Given the description of an element on the screen output the (x, y) to click on. 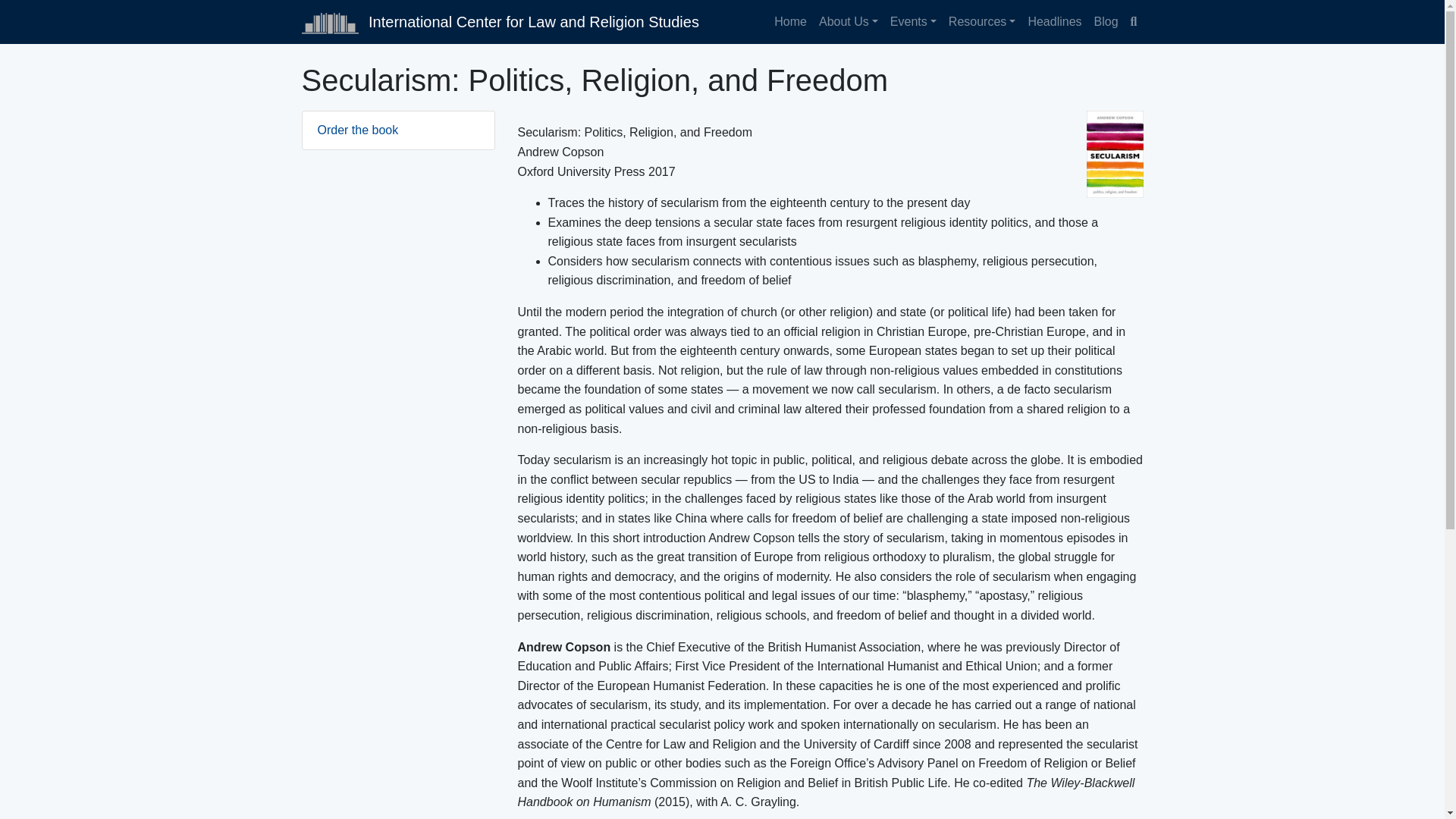
Events (912, 21)
Headlines (1054, 21)
Home (790, 21)
International Center for Law and Religion Studies (499, 21)
Home (790, 21)
Resources (982, 21)
Blog (1105, 21)
Events (912, 21)
About Us (847, 21)
Resources (982, 21)
About Us (847, 21)
Order the book (397, 130)
